Given the description of an element on the screen output the (x, y) to click on. 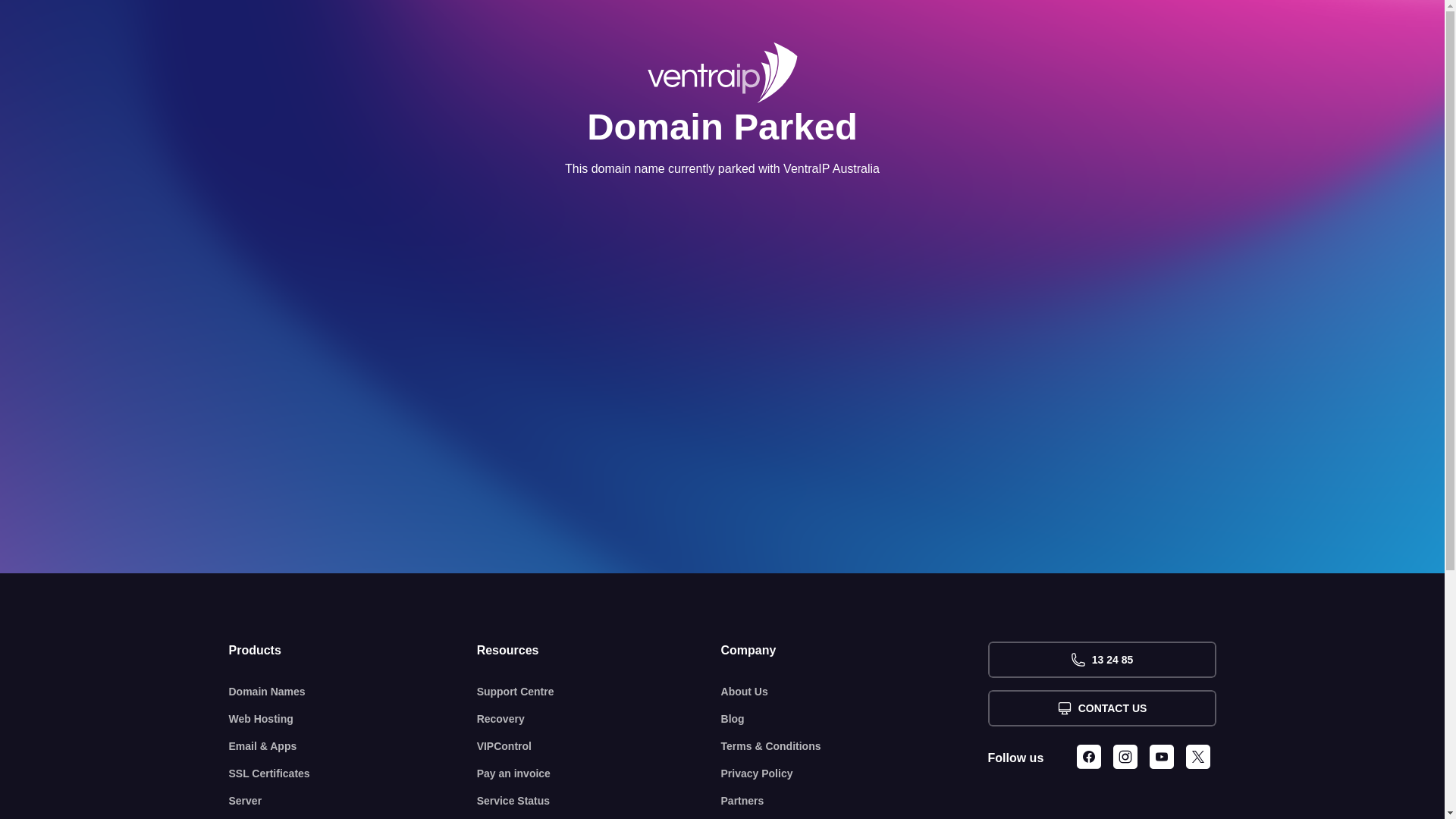
Server Element type: text (352, 800)
13 24 85 Element type: text (1101, 659)
Pay an invoice Element type: text (598, 773)
VIPControl Element type: text (598, 745)
Partners Element type: text (854, 800)
SSL Certificates Element type: text (352, 773)
Privacy Policy Element type: text (854, 773)
CONTACT US Element type: text (1101, 708)
Domain Names Element type: text (352, 691)
About Us Element type: text (854, 691)
Service Status Element type: text (598, 800)
Terms & Conditions Element type: text (854, 745)
Recovery Element type: text (598, 718)
Web Hosting Element type: text (352, 718)
Support Centre Element type: text (598, 691)
Email & Apps Element type: text (352, 745)
Blog Element type: text (854, 718)
